Given the description of an element on the screen output the (x, y) to click on. 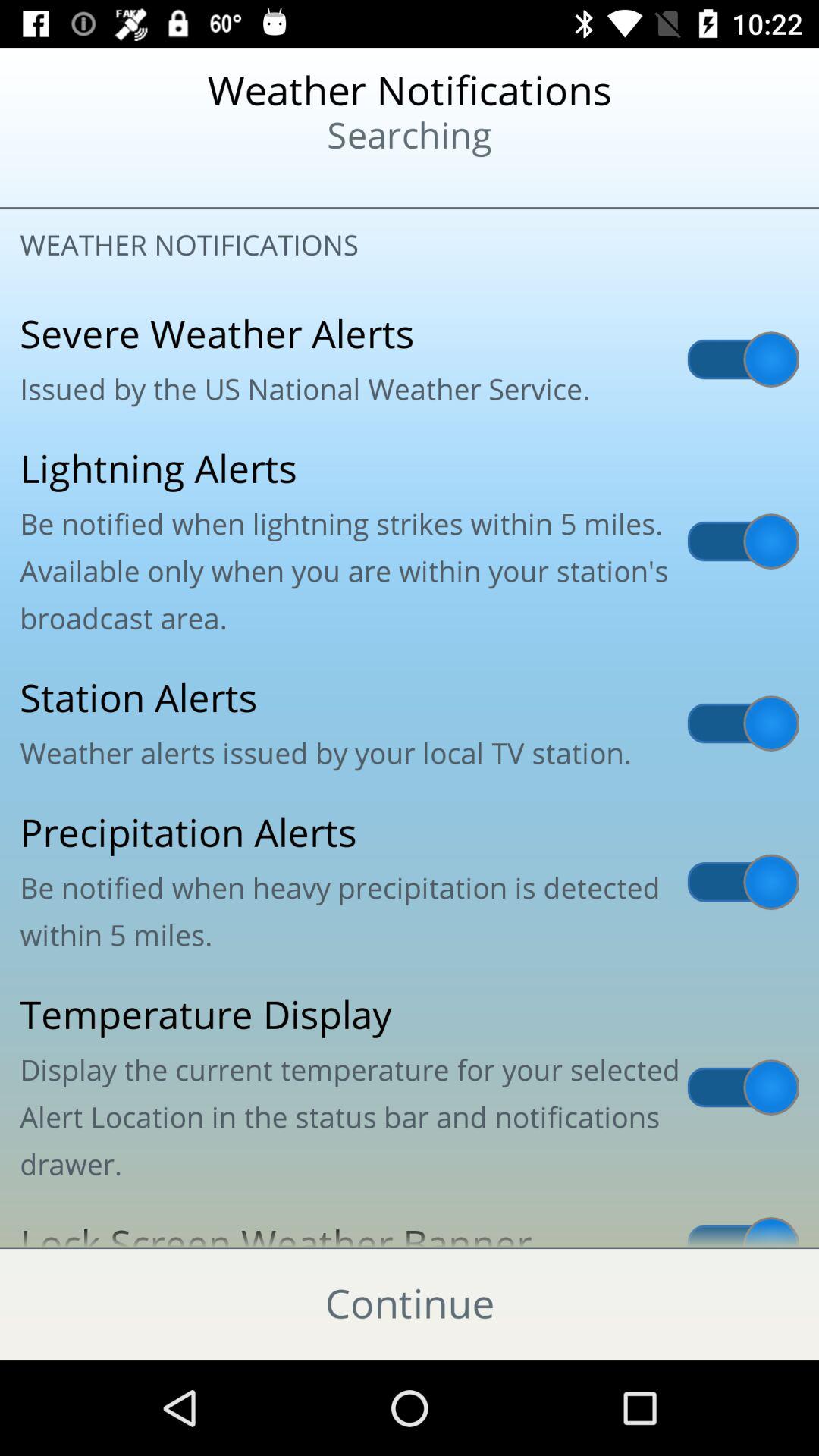
launch temperature display display (409, 1087)
